Given the description of an element on the screen output the (x, y) to click on. 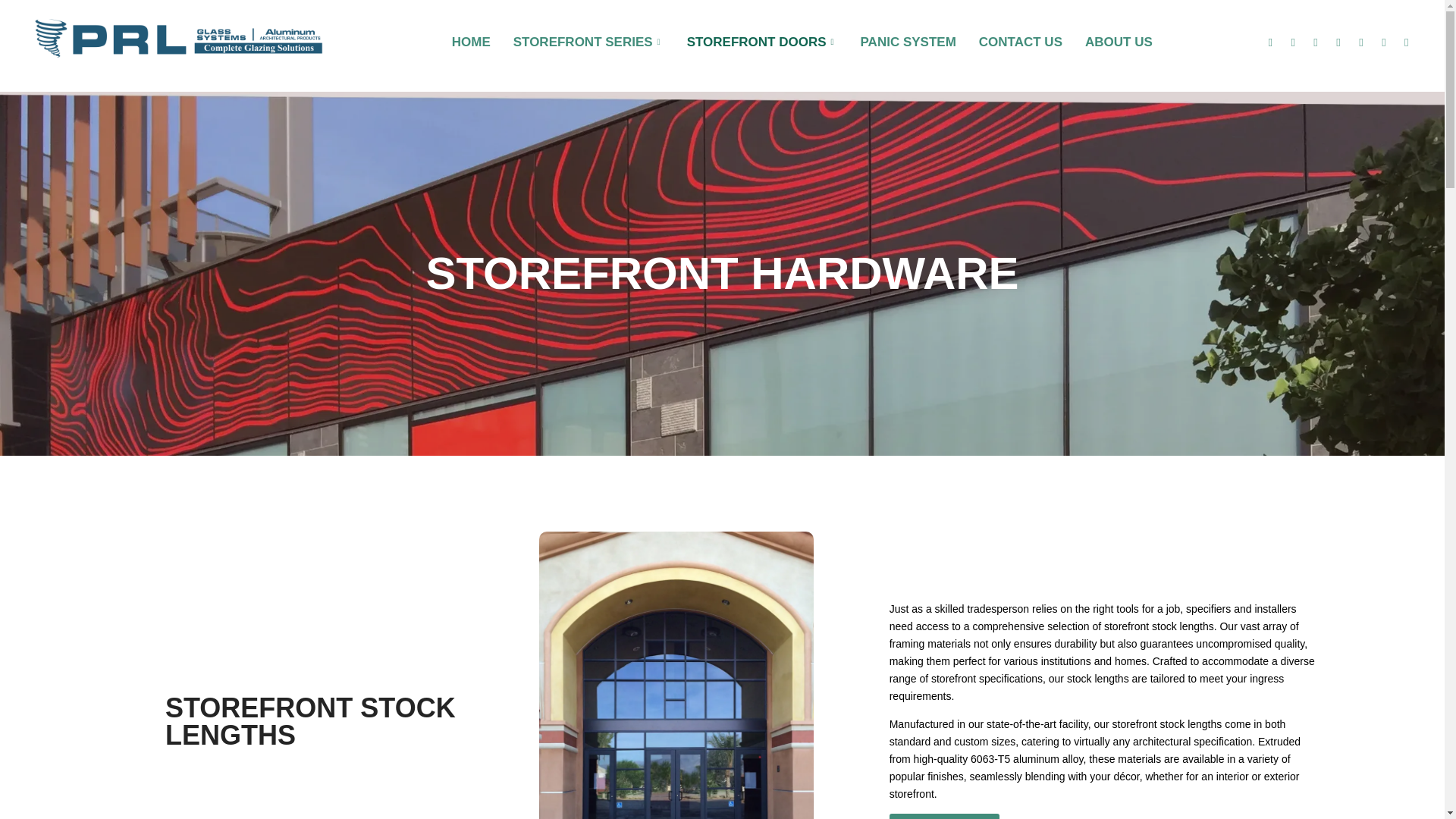
READ MORE (946, 816)
STOREFRONT DOORS (761, 41)
STOREFRONT SERIES (588, 41)
HOME (471, 41)
PANIC SYSTEM (908, 41)
CONTACT US (1021, 41)
ABOUT US (1118, 41)
